Given the description of an element on the screen output the (x, y) to click on. 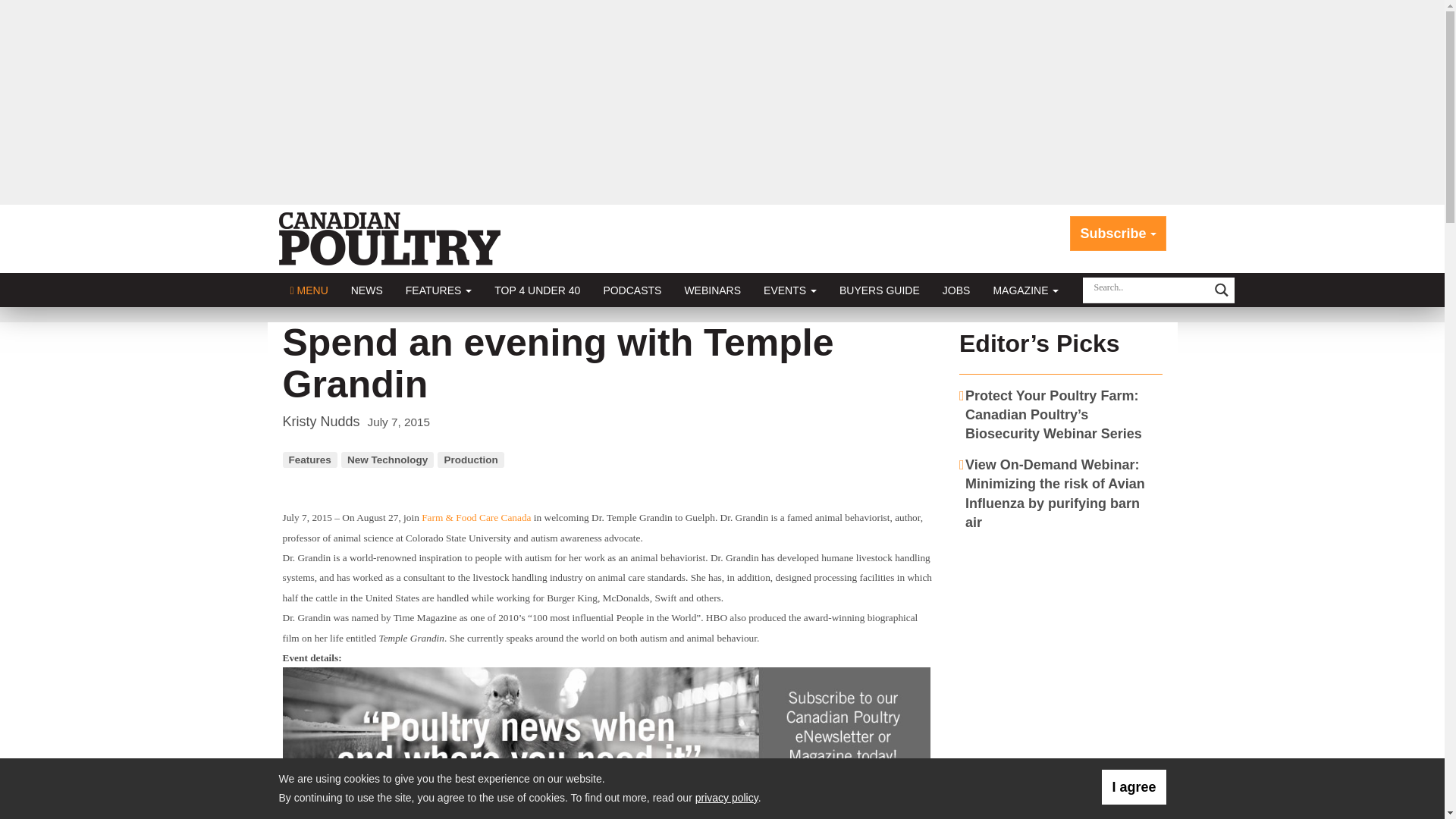
NEWS (366, 289)
PODCASTS (631, 289)
Subscribe (1118, 233)
FEATURES (438, 289)
JOBS (956, 289)
BUYERS GUIDE (879, 289)
TOP 4 UNDER 40 (537, 289)
3rd party ad content (609, 743)
WEBINARS (712, 289)
3rd party ad content (1060, 638)
Click to show site navigation (309, 289)
MAGAZINE (1025, 289)
Canadian Poultry Magazine (389, 237)
MENU (309, 289)
EVENTS (790, 289)
